Given the description of an element on the screen output the (x, y) to click on. 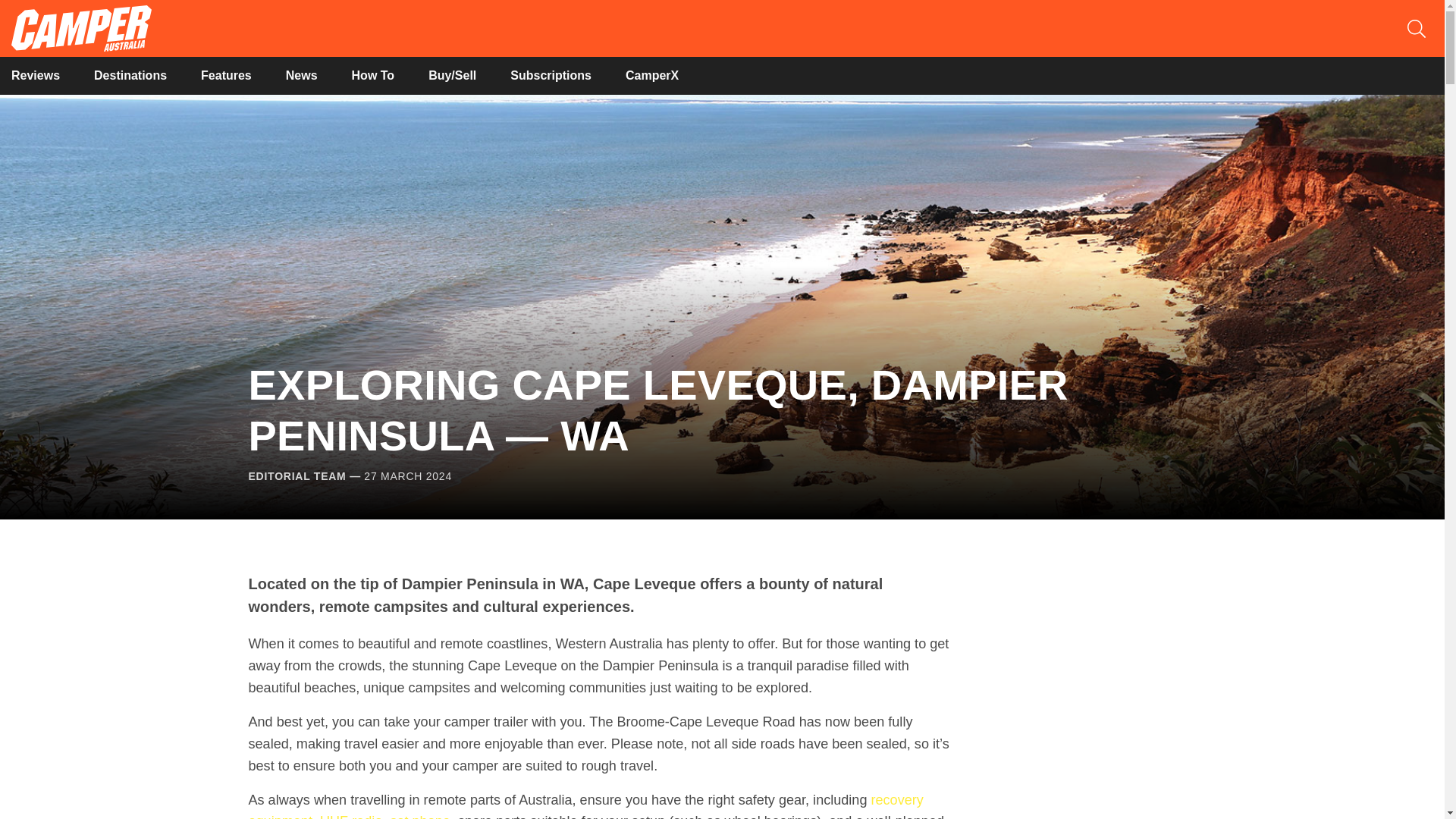
recovery equipment (585, 805)
Destinations (130, 75)
sat phone (419, 816)
UHF radio (350, 816)
CamperX (652, 75)
Reviews (35, 75)
News (301, 75)
Features (225, 75)
How To (373, 75)
Subscriptions (551, 75)
3rd party ad content (1090, 695)
